Given the description of an element on the screen output the (x, y) to click on. 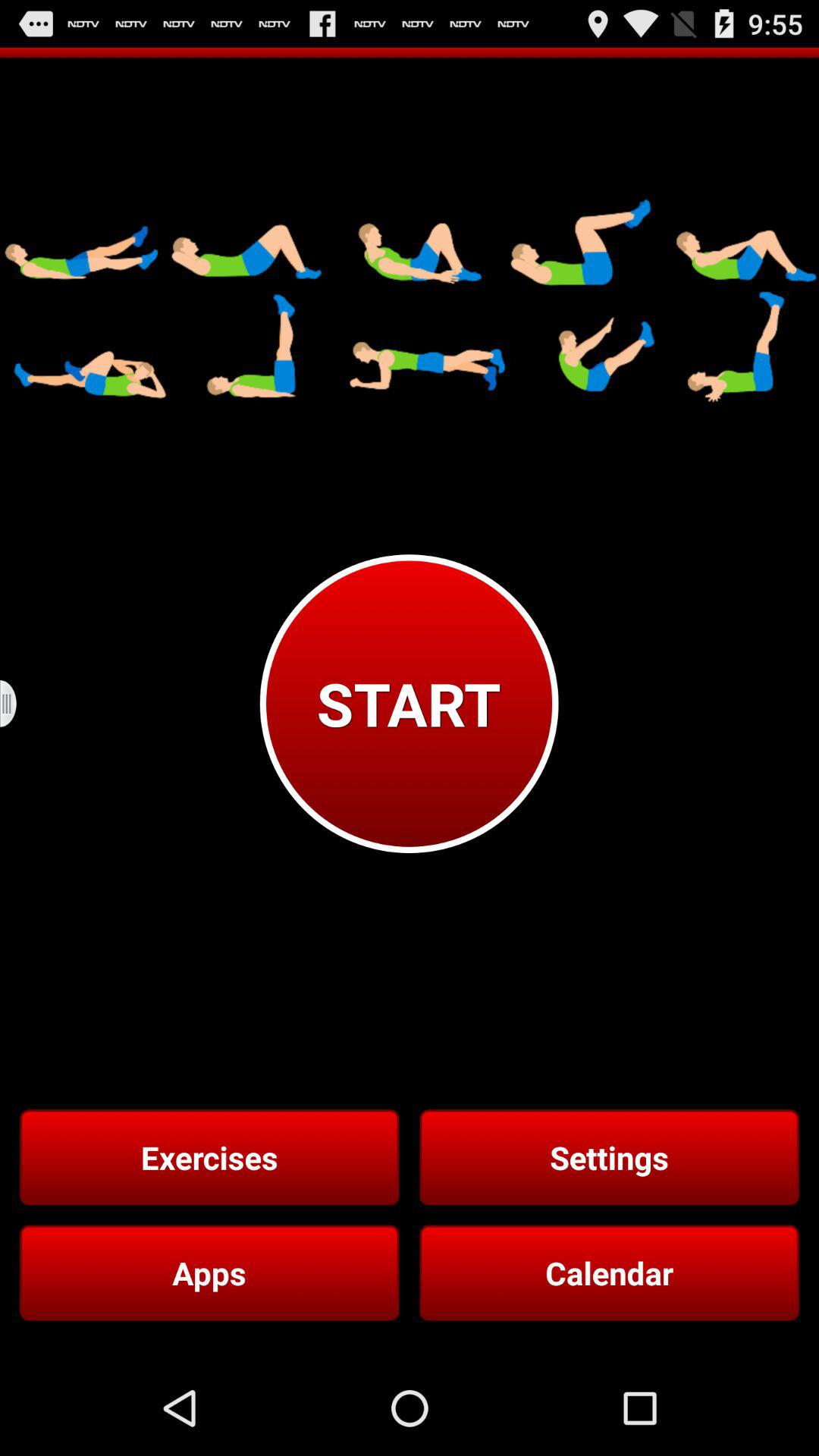
click button next to settings button (209, 1157)
